Given the description of an element on the screen output the (x, y) to click on. 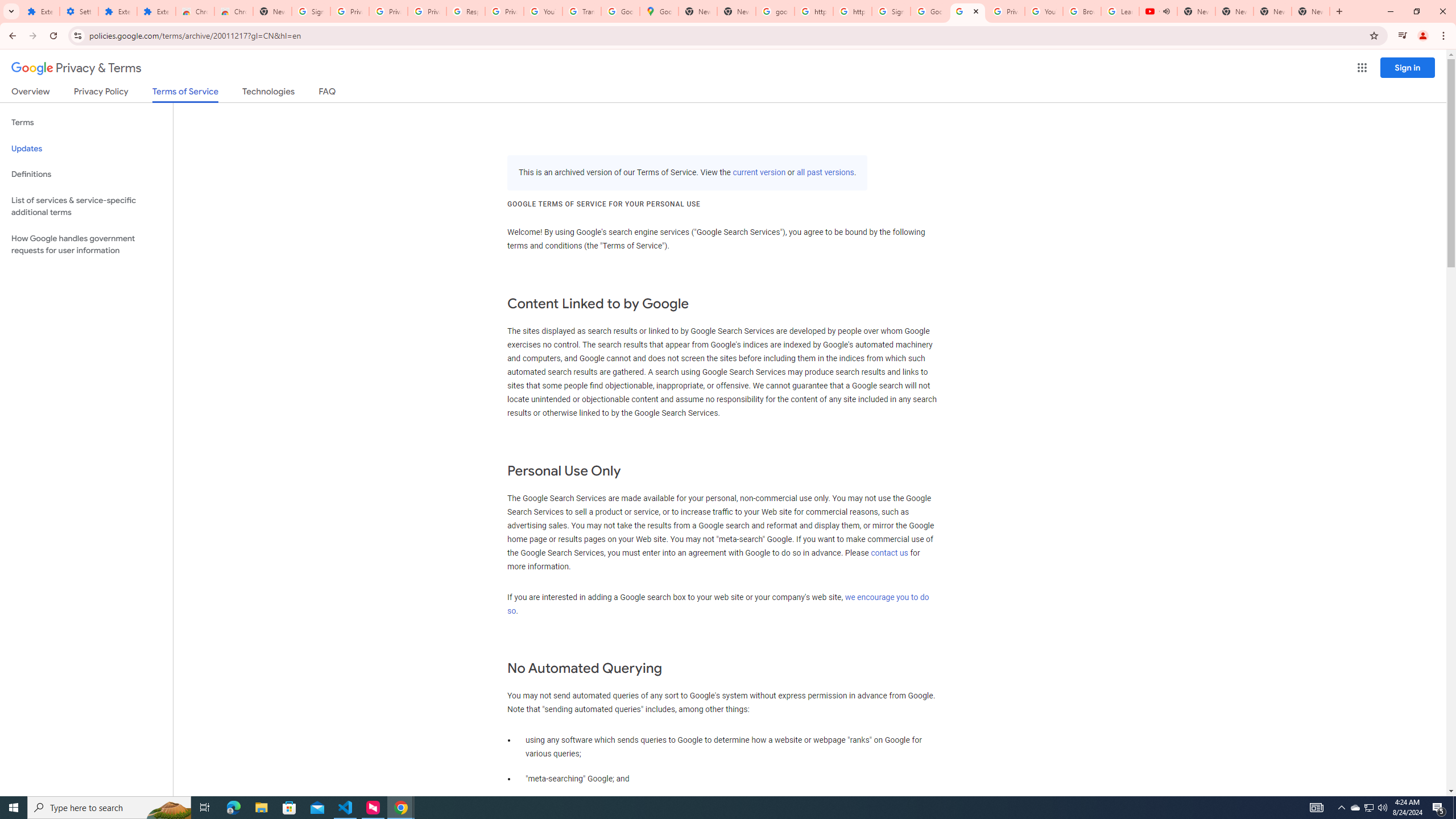
FAQ (327, 93)
Definitions (86, 174)
we encourage you to do so (717, 603)
Sign in - Google Accounts (890, 11)
Google apps (1362, 67)
Browse Chrome as a guest - Computer - Google Chrome Help (1082, 11)
contact us (889, 552)
Privacy Policy (100, 93)
Mute tab (1165, 10)
